Given the description of an element on the screen output the (x, y) to click on. 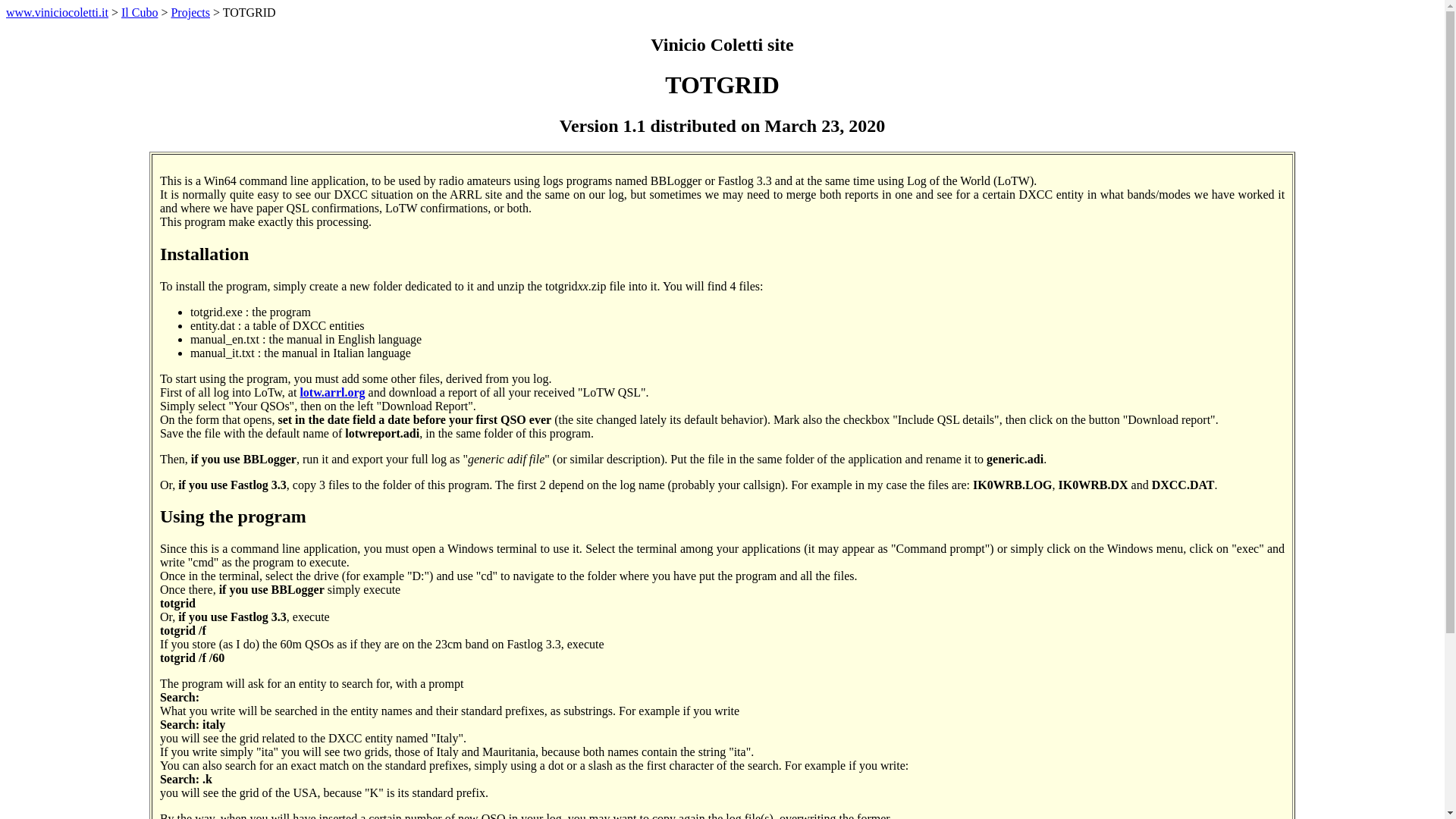
www.viniciocoletti.it (56, 11)
Il Cubo (138, 11)
Projects (189, 11)
lotw.arrl.org (332, 391)
